Given the description of an element on the screen output the (x, y) to click on. 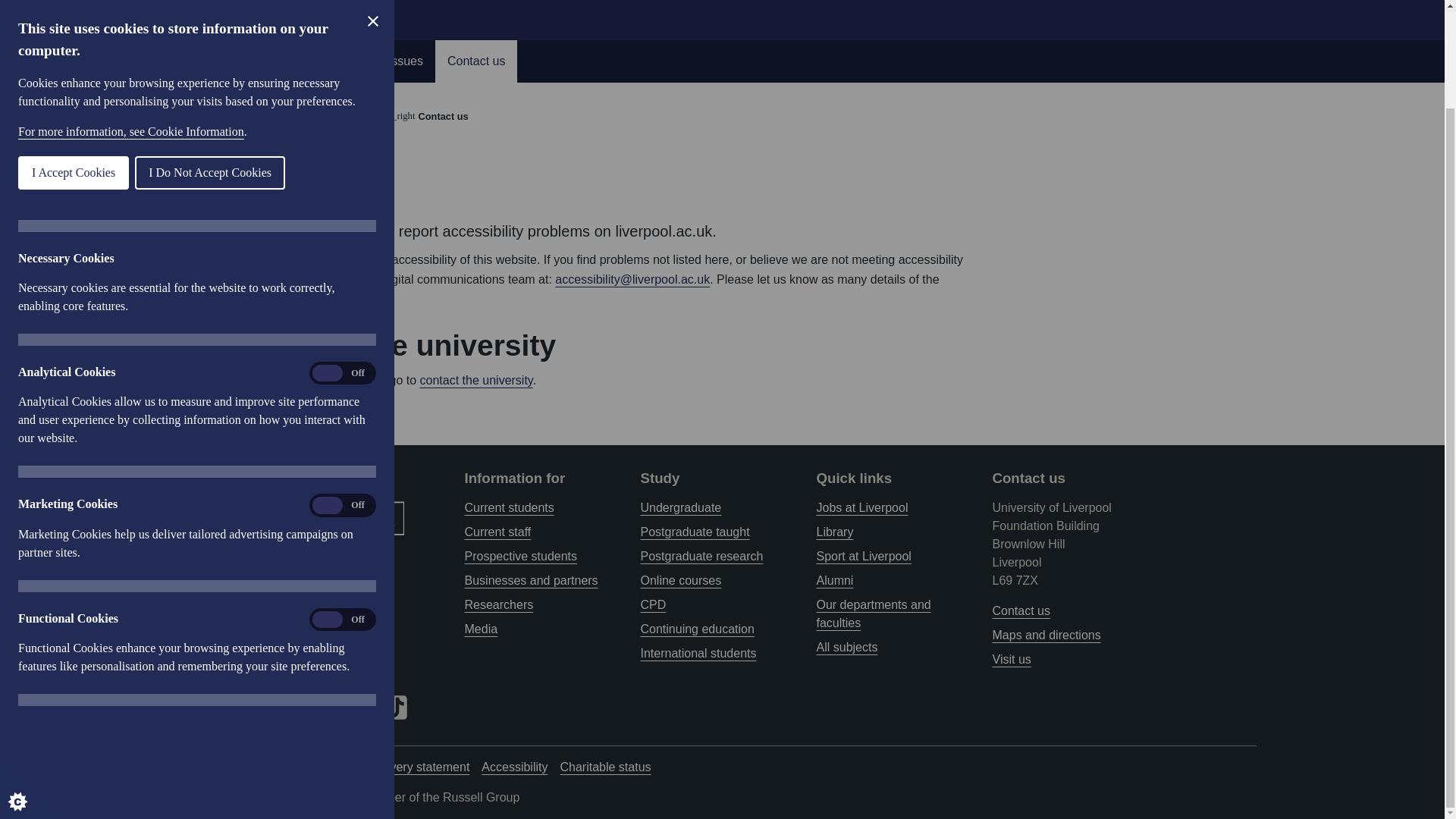
contact the university (476, 379)
LivUni on YouTube (320, 706)
home (222, 116)
Contact us (475, 61)
Known Issues (384, 61)
I Do Not Accept Cookies (42, 59)
LivUni on YouTube (320, 707)
University of Liverpool on LinkedIn (357, 707)
Accessibility (272, 11)
University of Liverpool on Facebook (212, 706)
